Given the description of an element on the screen output the (x, y) to click on. 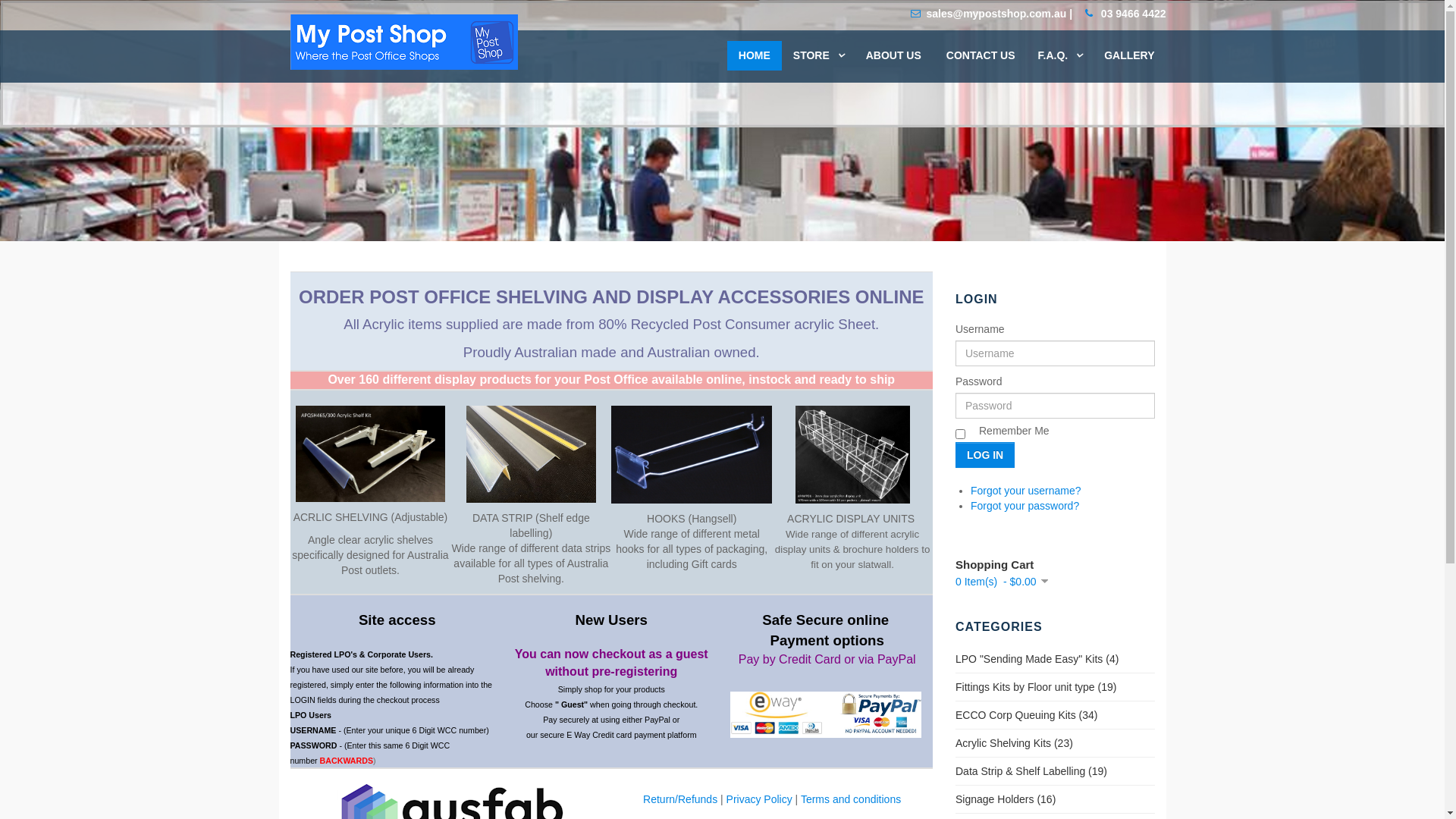
ABOUT US Element type: text (893, 55)
Return/Refunds Element type: text (680, 799)
Terms and conditions Element type: text (850, 799)
Data Strip & Shelf Labelling (19) Element type: text (1031, 771)
LOG IN Element type: text (984, 454)
Hangsell Slatwall Hooks Element type: hover (691, 453)
F.A.Q. Element type: text (1060, 55)
ECCO Corp Queuing Kits (34) Element type: text (1026, 715)
CONTACT US Element type: text (980, 55)
LPO "Sending Made Easy" Kits (4) Element type: text (1036, 658)
STORE Element type: text (818, 55)
HOME Element type: text (754, 55)
0 Item(s)  - $0.00 Element type: text (1001, 581)
Fittings Kits by Floor unit type (19) Element type: text (1035, 686)
GALLERY Element type: text (1128, 55)
Privacy Policy Element type: text (759, 799)
Forgot your username? Element type: text (1025, 490)
Data Strip & Shelf Labelling Element type: hover (530, 453)
Signage Holders (16) Element type: text (1005, 799)
Forgot your password? Element type: text (1024, 505)
MyPostShop Element type: hover (403, 41)
Acrylic Display Units Element type: hover (851, 454)
Acrylic Shelving Kits (23) Element type: text (1014, 743)
Acrylic Shelving Kits Element type: hover (369, 453)
